Given the description of an element on the screen output the (x, y) to click on. 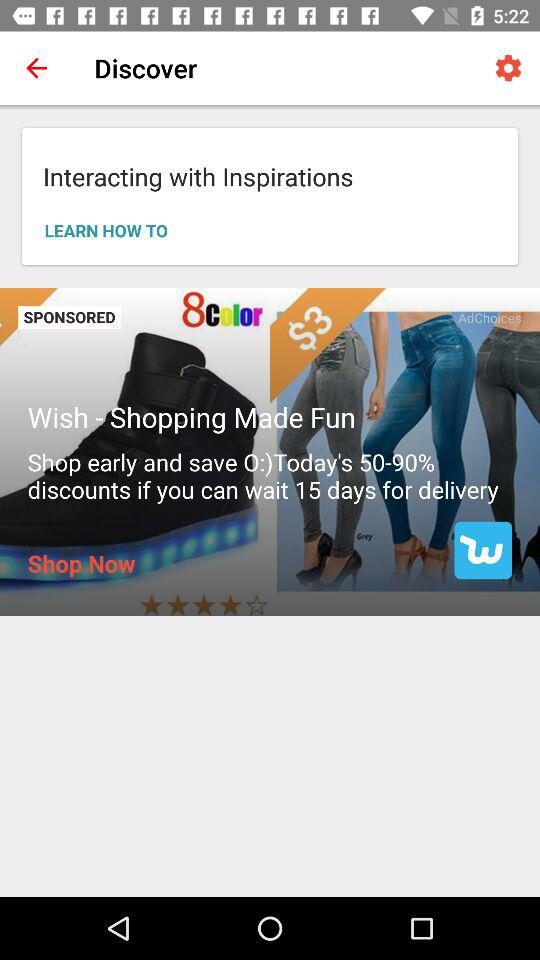
click item next to discover icon (508, 67)
